Given the description of an element on the screen output the (x, y) to click on. 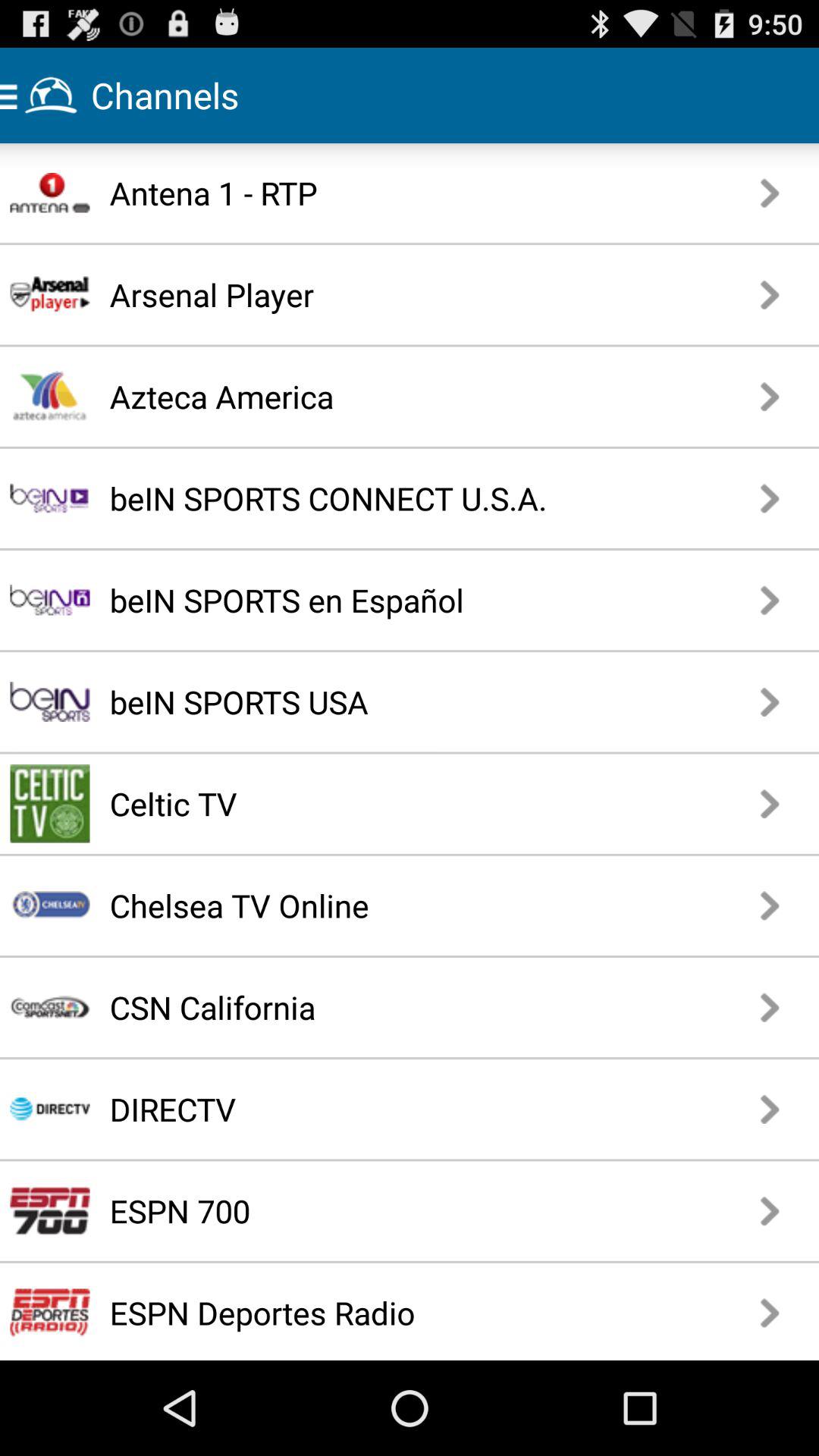
scroll until arsenal player (366, 294)
